Given the description of an element on the screen output the (x, y) to click on. 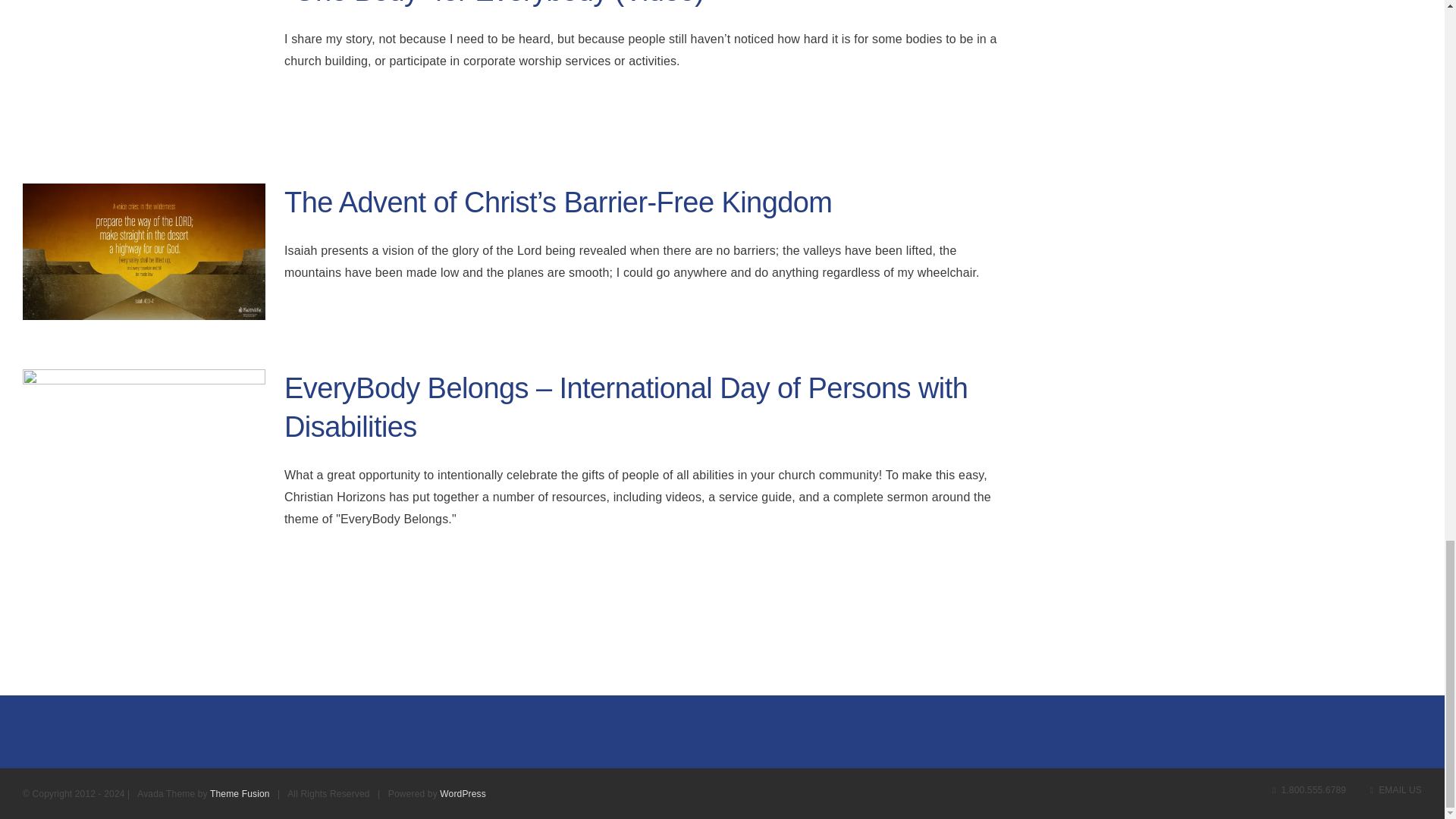
WordPress (462, 793)
Theme Fusion (239, 793)
  EMAIL US (1396, 789)
